Given the description of an element on the screen output the (x, y) to click on. 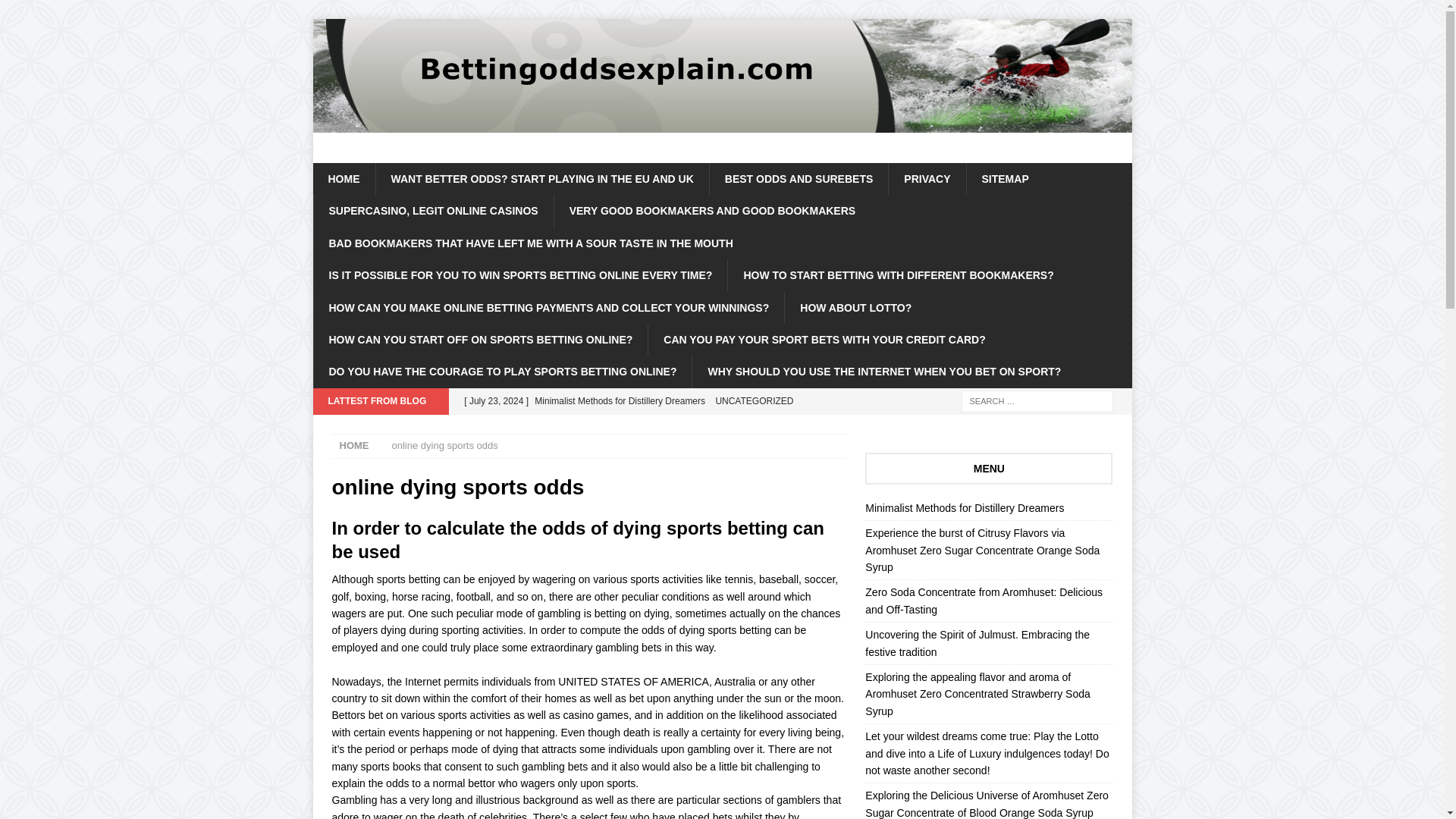
SUPERCASINO, LEGIT ONLINE CASINOS (433, 210)
Bettingoddsexplain (722, 123)
CAN YOU PAY YOUR SPORT BETS WITH YOUR CREDIT CARD? (823, 339)
BEST ODDS AND SUREBETS (798, 178)
Minimalist Methods for Distillery Dreamers (964, 508)
HOME (343, 178)
DO YOU HAVE THE COURAGE TO PLAY SPORTS BETTING ONLINE? (502, 371)
